Given the description of an element on the screen output the (x, y) to click on. 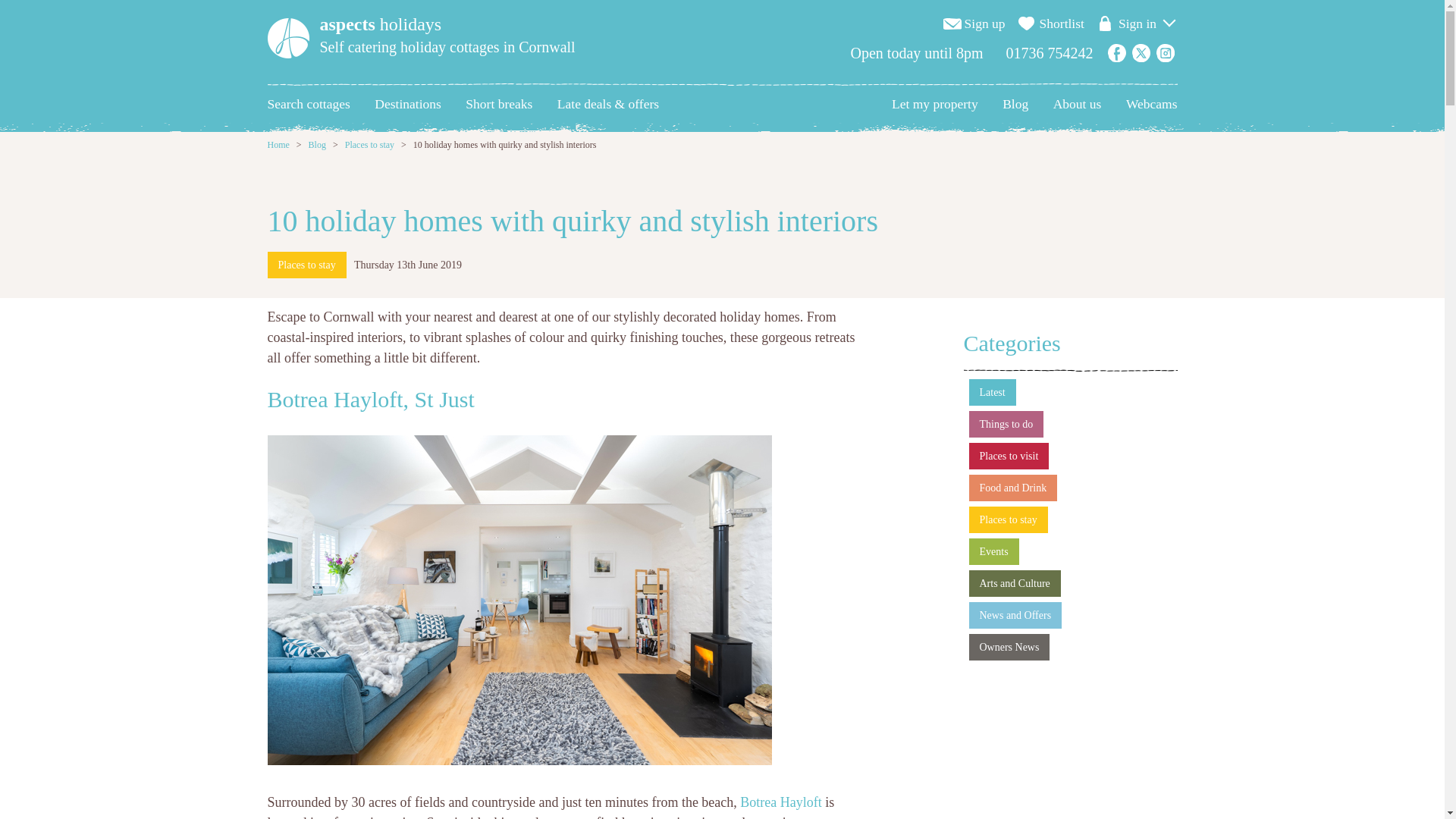
Short breaks (498, 103)
Sign up (984, 23)
Search cottages (307, 103)
Instagram (1164, 53)
Shortlist (1061, 23)
Blog (317, 144)
Destinations (407, 103)
About us (1077, 103)
Blog (1015, 103)
Facebook (1115, 53)
Twitter (1140, 53)
Let my property (934, 103)
Places to stay (369, 144)
Places to stay (306, 264)
Webcams (1151, 103)
